Given the description of an element on the screen output the (x, y) to click on. 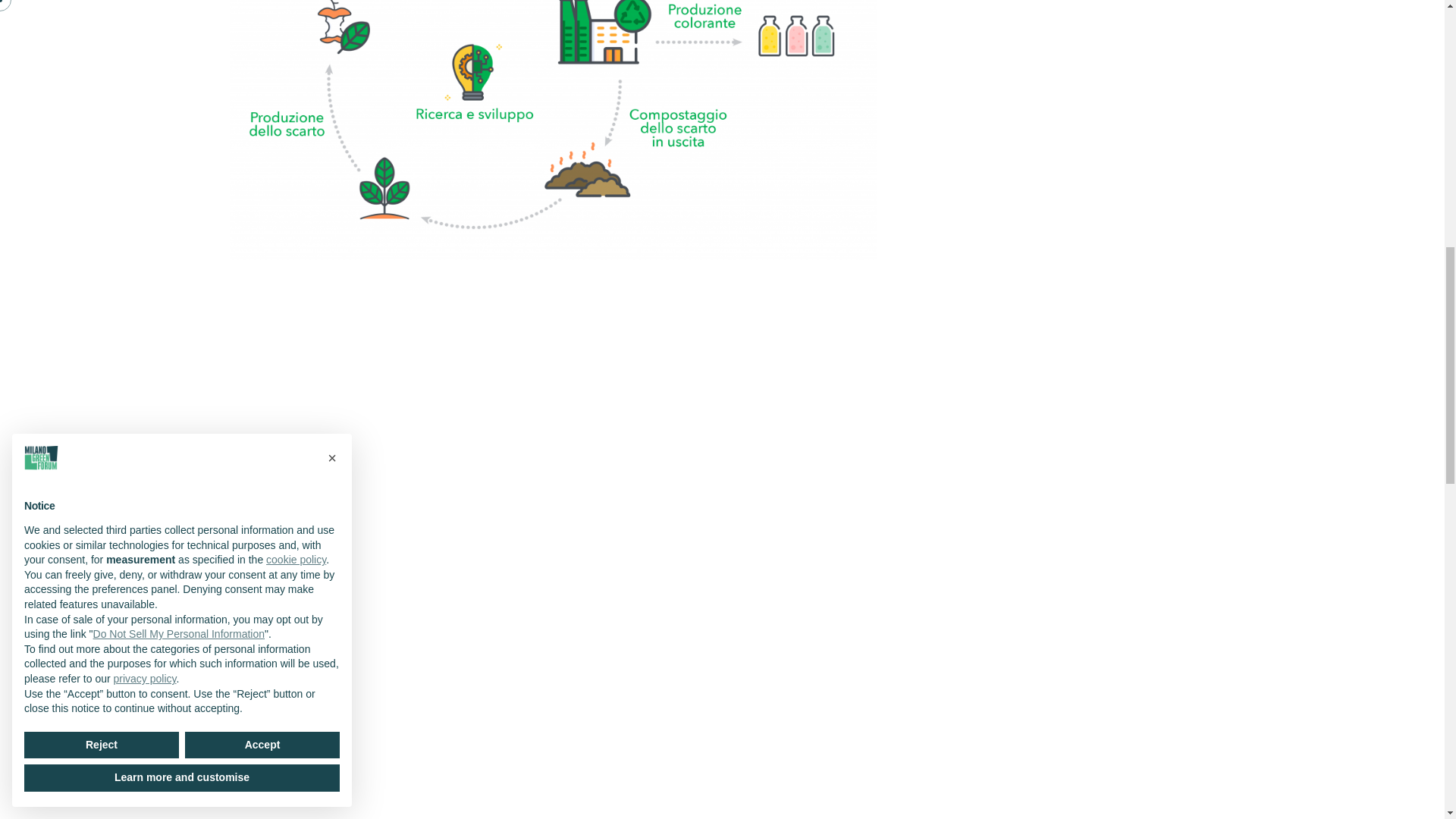
View (552, 734)
